Given the description of an element on the screen output the (x, y) to click on. 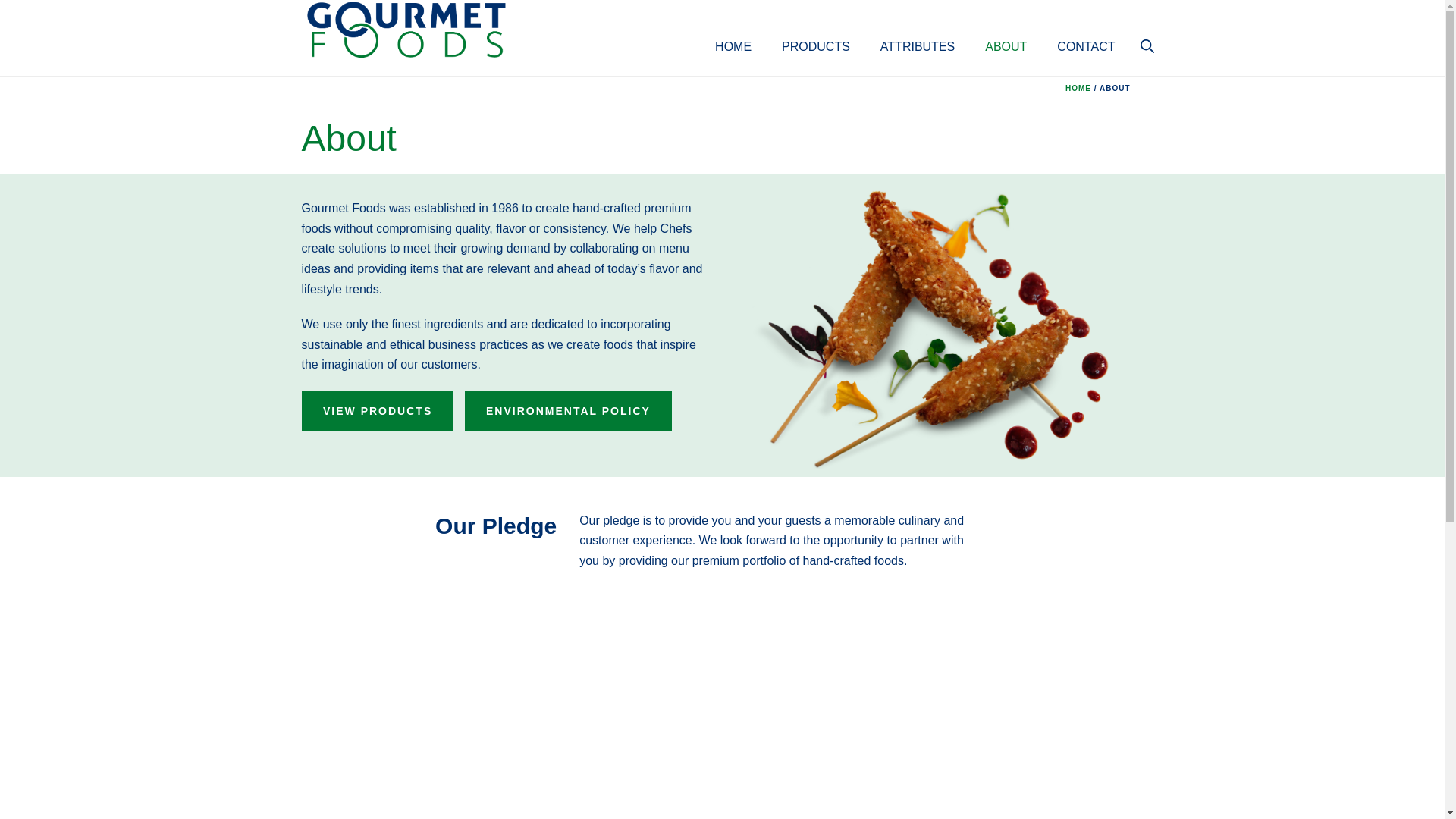
HOME (733, 30)
CONTACT (1085, 30)
ENVIRONMENTAL POLICY (567, 410)
bshot-sesame-chicken-broch-sil2 (938, 328)
PRODUCTS (815, 30)
VIEW PRODUCTS (376, 410)
ATTRIBUTES (916, 30)
PRODUCTS (815, 30)
ABOUT (1005, 30)
HOME (733, 30)
